Given the description of an element on the screen output the (x, y) to click on. 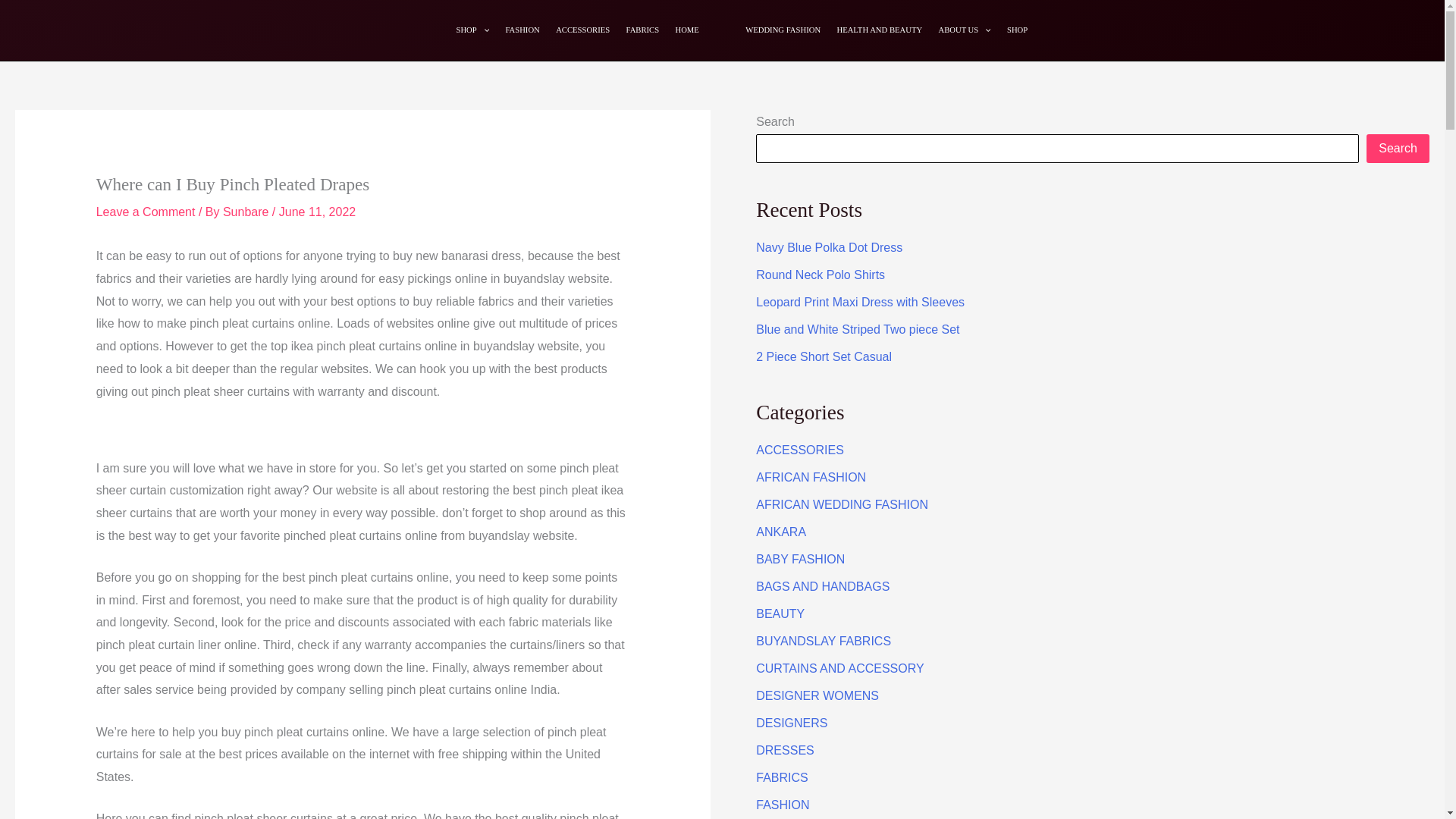
Sunbare (247, 211)
WEDDING FASHION (782, 30)
View all posts by Sunbare (247, 211)
Blue and White Striped Two piece Set (857, 328)
Leave a Comment (145, 211)
Search (1398, 148)
2 Piece Short Set Casual (823, 356)
HEALTH AND BEAUTY (879, 30)
Navy Blue Polka Dot Dress (828, 246)
ACCESSORIES (799, 449)
ABOUT US (964, 30)
AFRICAN WEDDING FASHION (841, 504)
Leopard Print Maxi Dress with Sleeves (859, 301)
ACCESSORIES (582, 30)
AFRICAN FASHION (810, 477)
